Given the description of an element on the screen output the (x, y) to click on. 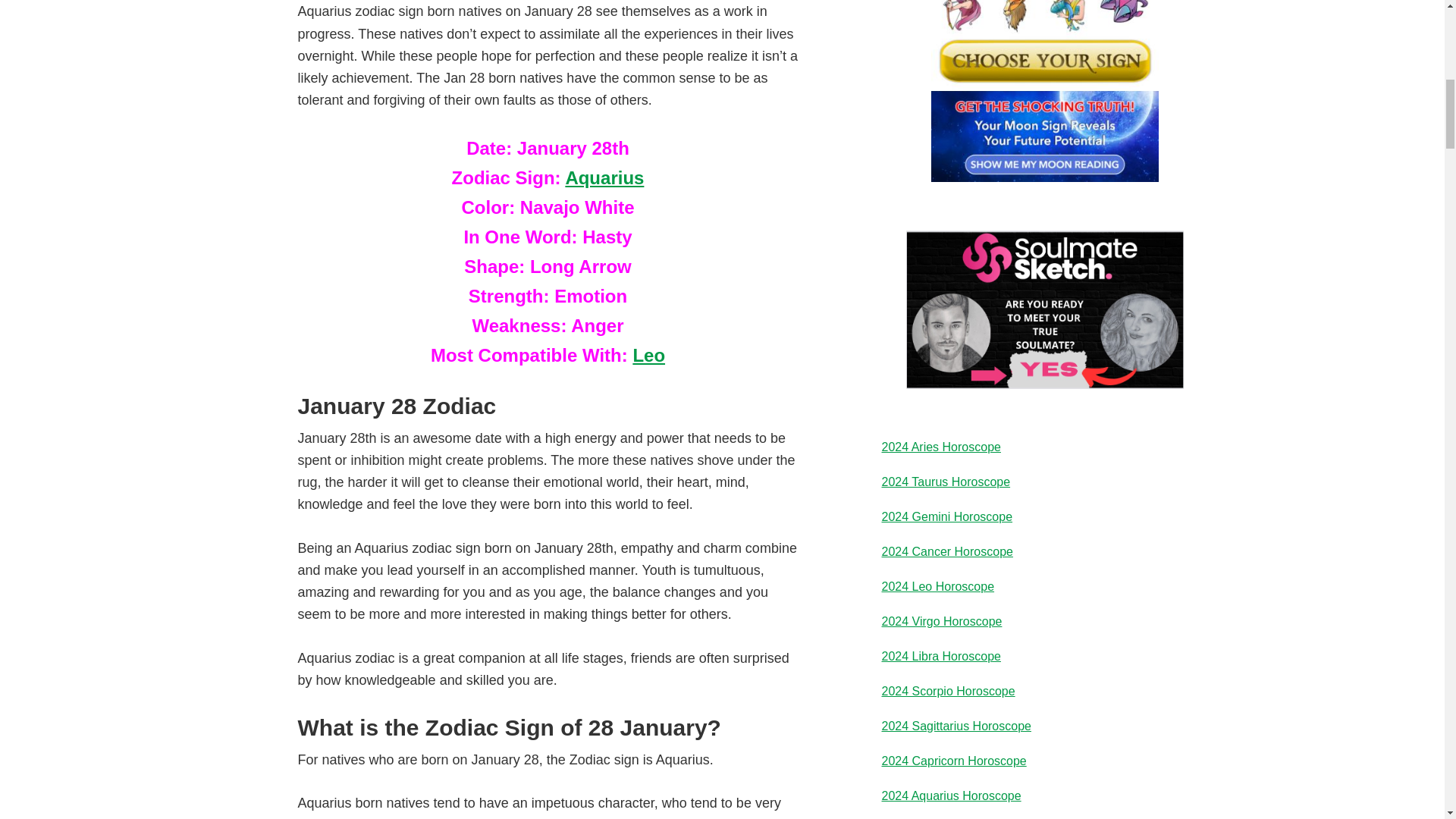
2024 Aries Horoscope (940, 446)
2024 Capricorn Horoscope (953, 760)
2024 Gemini Horoscope (945, 516)
2024 Leo Horoscope (937, 585)
2024 Virgo Horoscope (940, 621)
2024 Sagittarius Horoscope (955, 725)
Aquarius (603, 177)
2024 Libra Horoscope (940, 656)
2024 Taurus Horoscope (945, 481)
2024 Cancer Horoscope (945, 551)
2024 Scorpio Horoscope (947, 690)
Leo (648, 353)
